Given the description of an element on the screen output the (x, y) to click on. 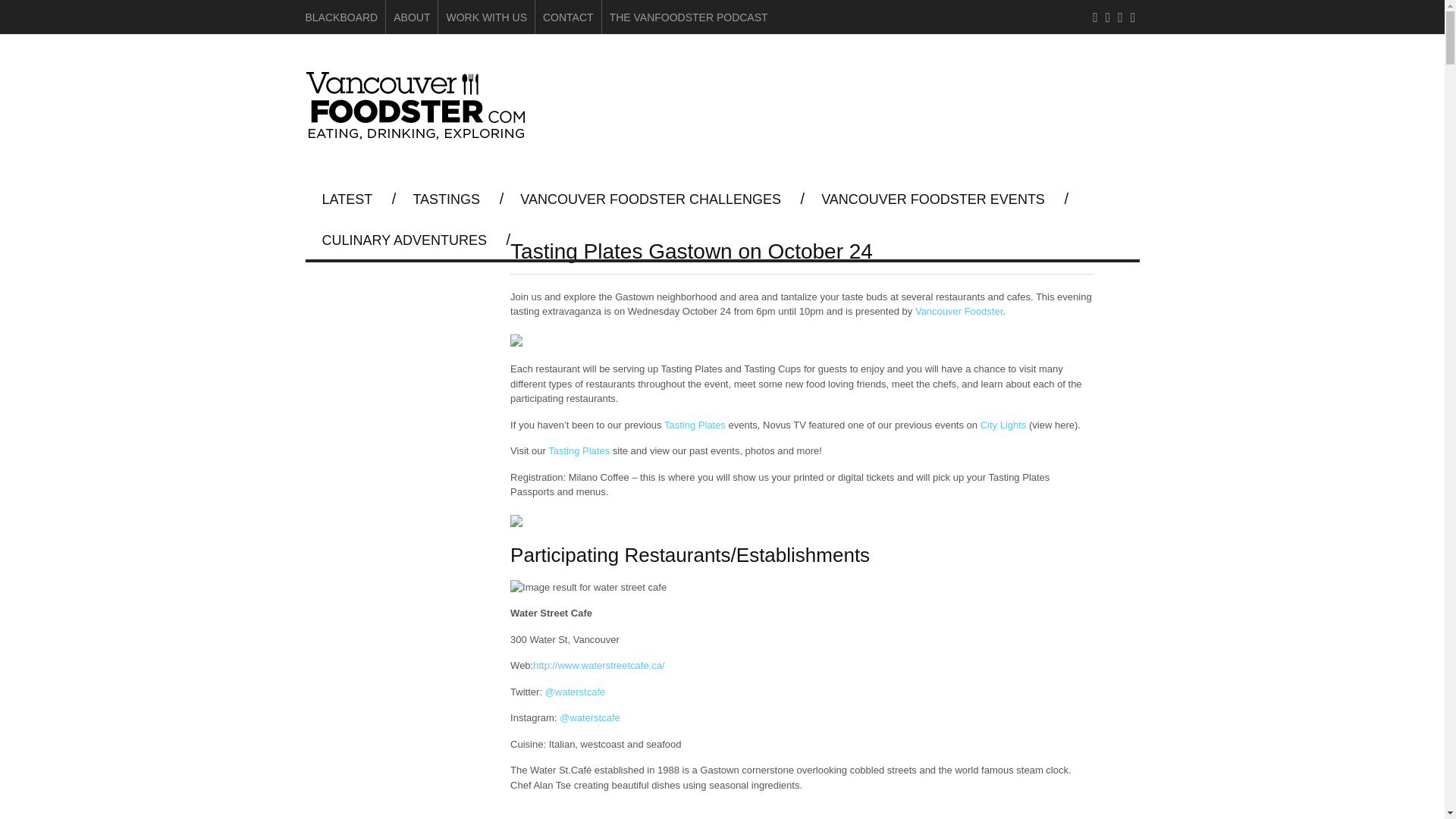
City Lights (1002, 424)
WORK WITH US (486, 17)
CONTACT (568, 17)
VANCOUVER FOODSTER EVENTS (932, 199)
TASTINGS (445, 199)
LATEST (346, 199)
Vancouver Foodster (418, 132)
Tasting Plates (694, 424)
Vancouver Foodster (959, 310)
Tasting Plates (579, 450)
